Given the description of an element on the screen output the (x, y) to click on. 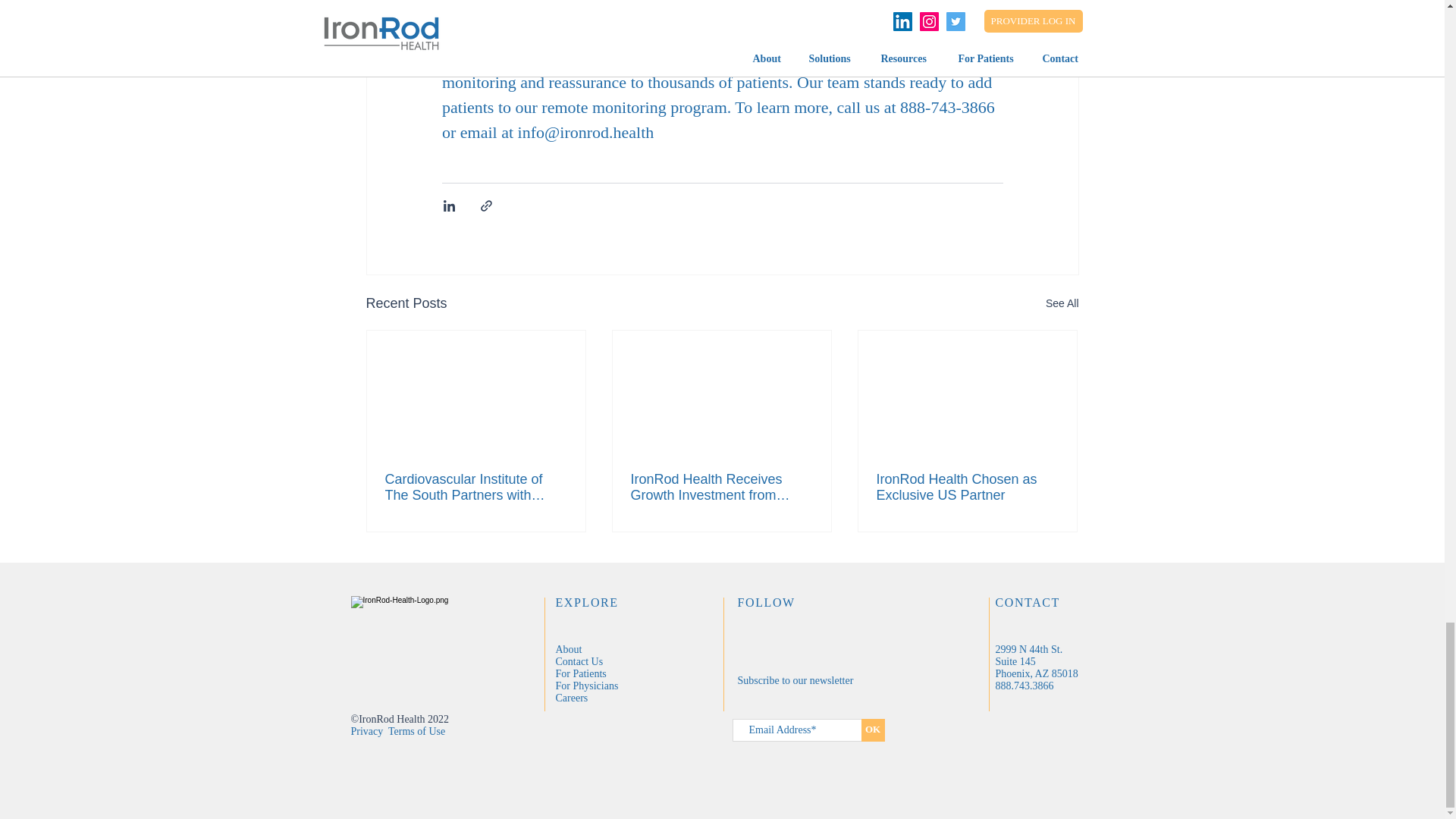
IronRod Health Receives Growth Investment from HCAP Partners (721, 487)
Terms of Use (416, 730)
For Physicians (585, 685)
Contact Us (578, 660)
Privacy (366, 730)
About (567, 648)
IronRod Health Chosen as Exclusive US Partner (967, 487)
See All (1061, 303)
Careers (571, 696)
For Patients (579, 672)
